Given the description of an element on the screen output the (x, y) to click on. 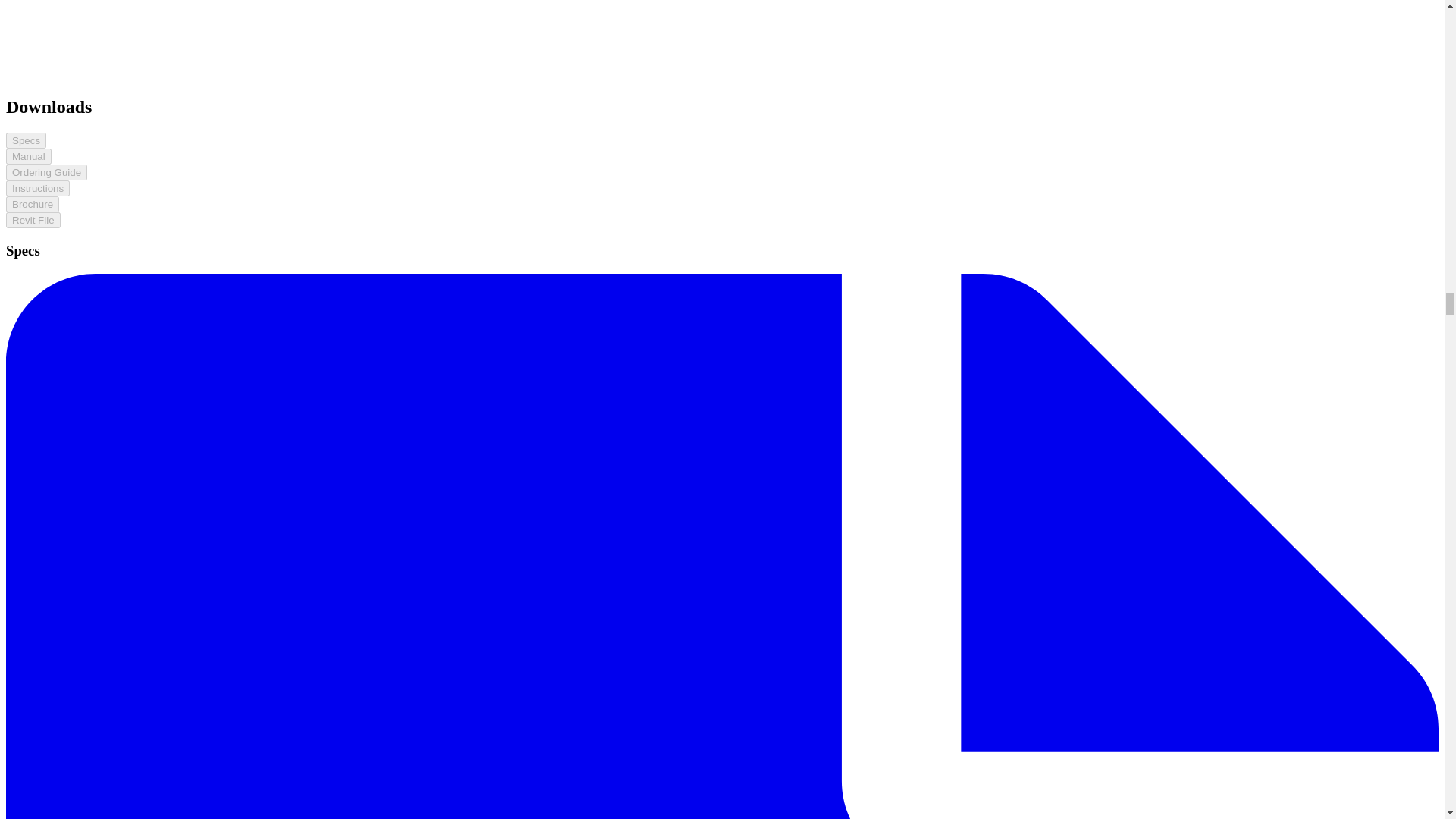
Brochure (32, 204)
Ordering Guide (46, 172)
Specs (25, 140)
Revit File (33, 220)
Instructions (37, 188)
Manual (27, 156)
